Given the description of an element on the screen output the (x, y) to click on. 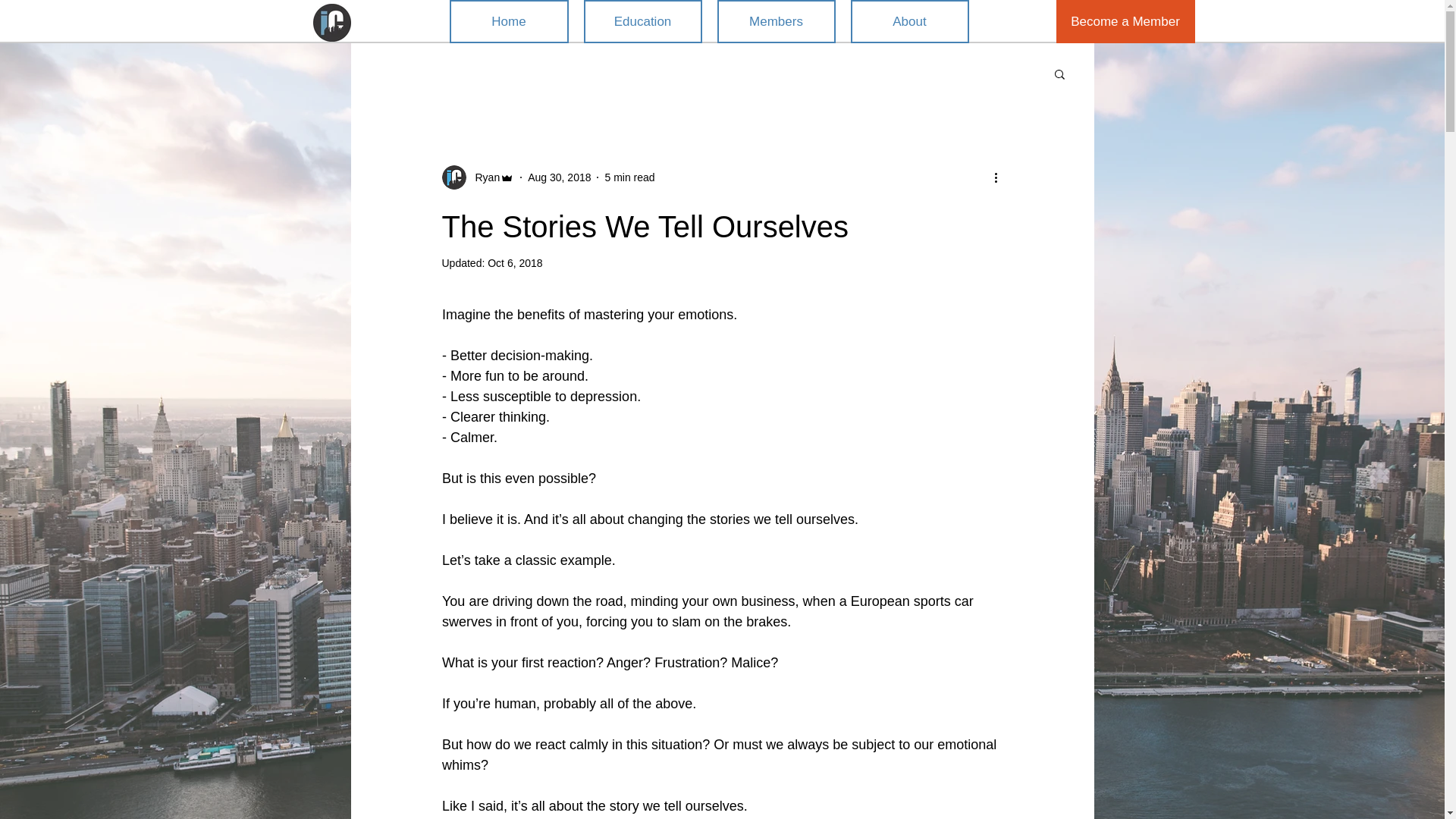
Education (642, 21)
Become a Member (1124, 21)
Aug 30, 2018 (559, 177)
Home (507, 21)
About (909, 21)
Members (776, 21)
Oct 6, 2018 (514, 263)
Ryan (482, 177)
Ryan (477, 177)
5 min read (628, 177)
